Given the description of an element on the screen output the (x, y) to click on. 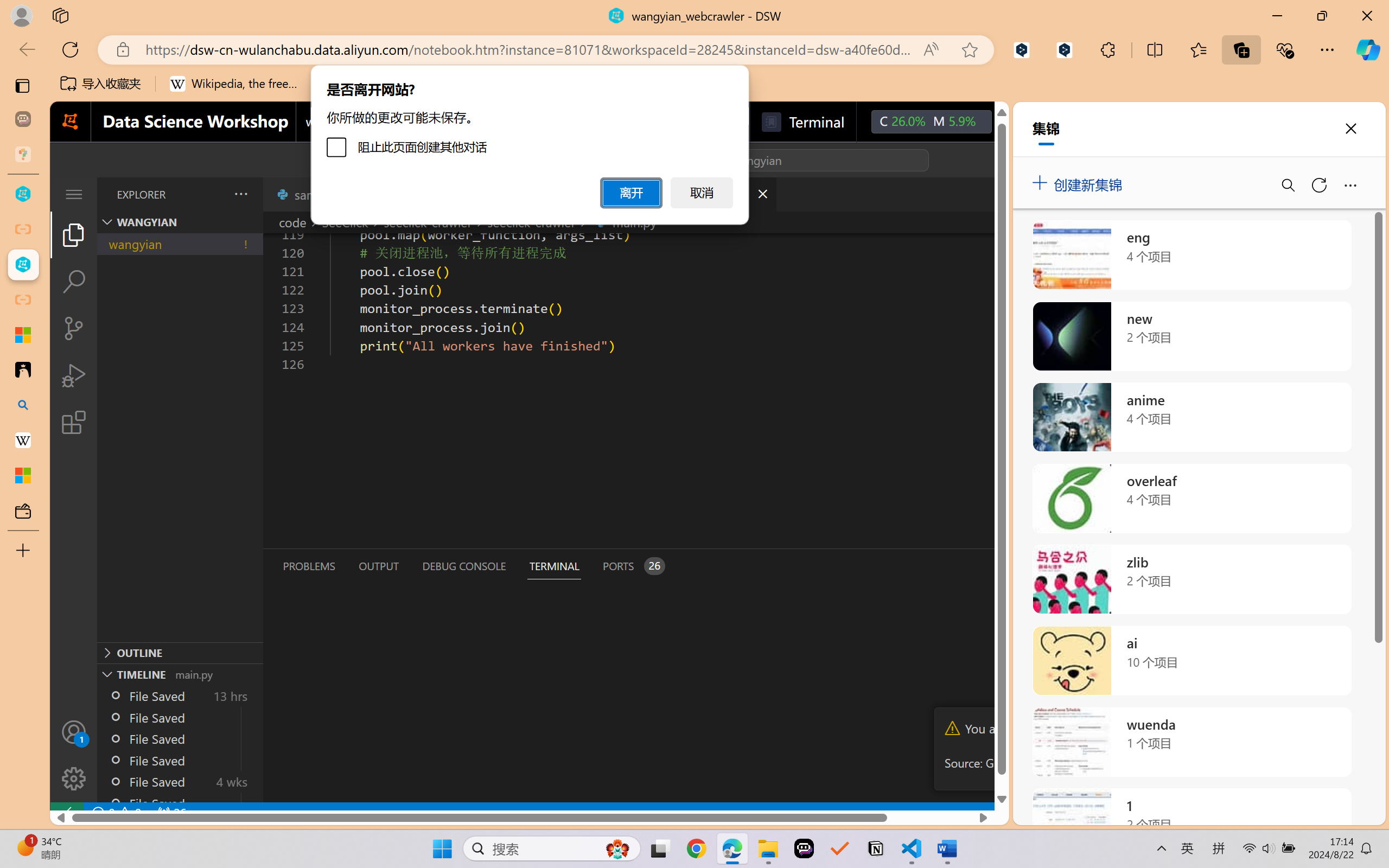
Explorer (Ctrl+Shift+E) (73, 234)
Views and More Actions... (240, 193)
icon (1015, 121)
remote (66, 812)
